Given the description of an element on the screen output the (x, y) to click on. 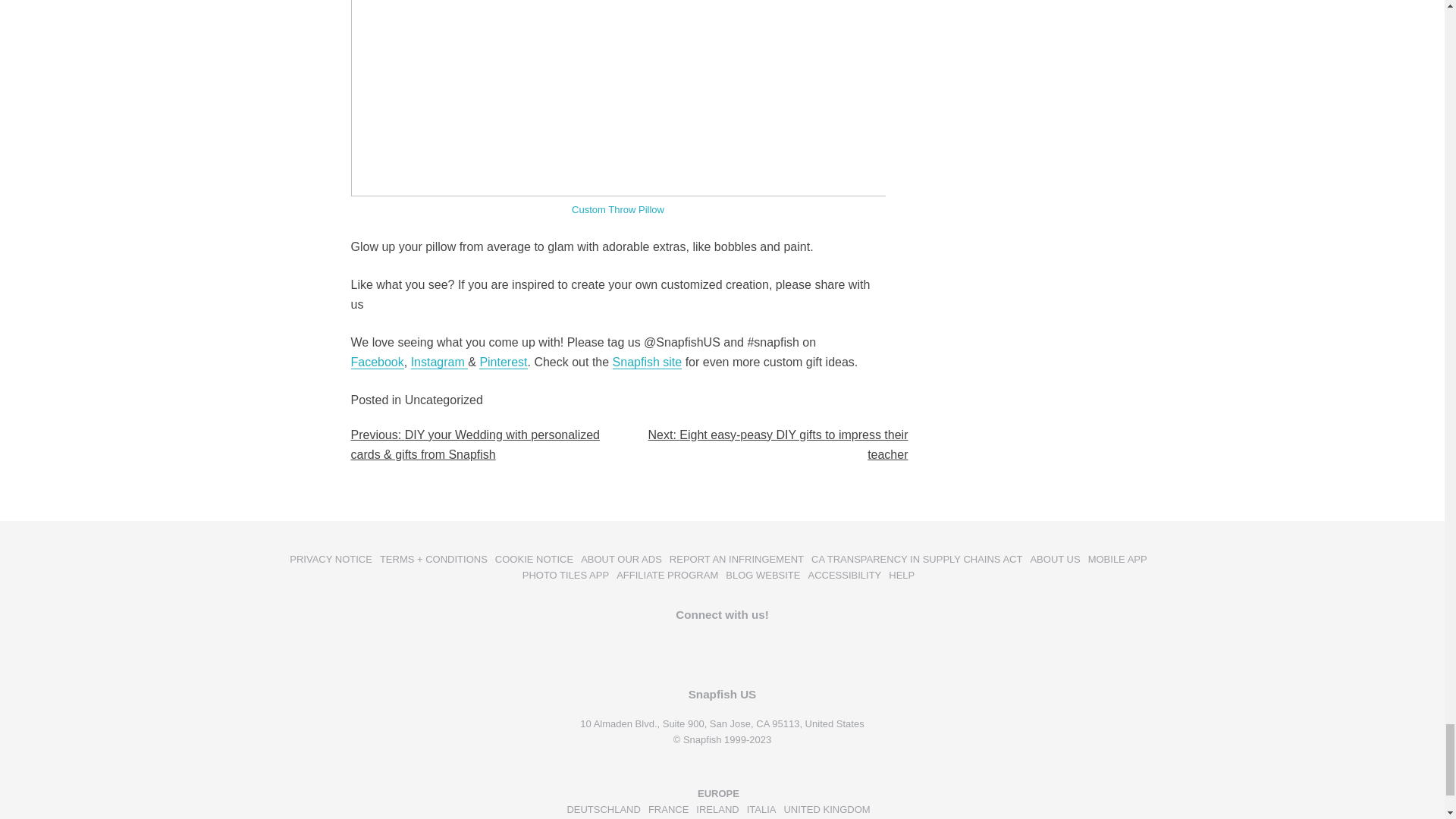
Snapfish site (647, 362)
Custom Throw Pillow (617, 209)
Instagram  (439, 362)
Pinterest (503, 362)
Facebook (376, 362)
